Given the description of an element on the screen output the (x, y) to click on. 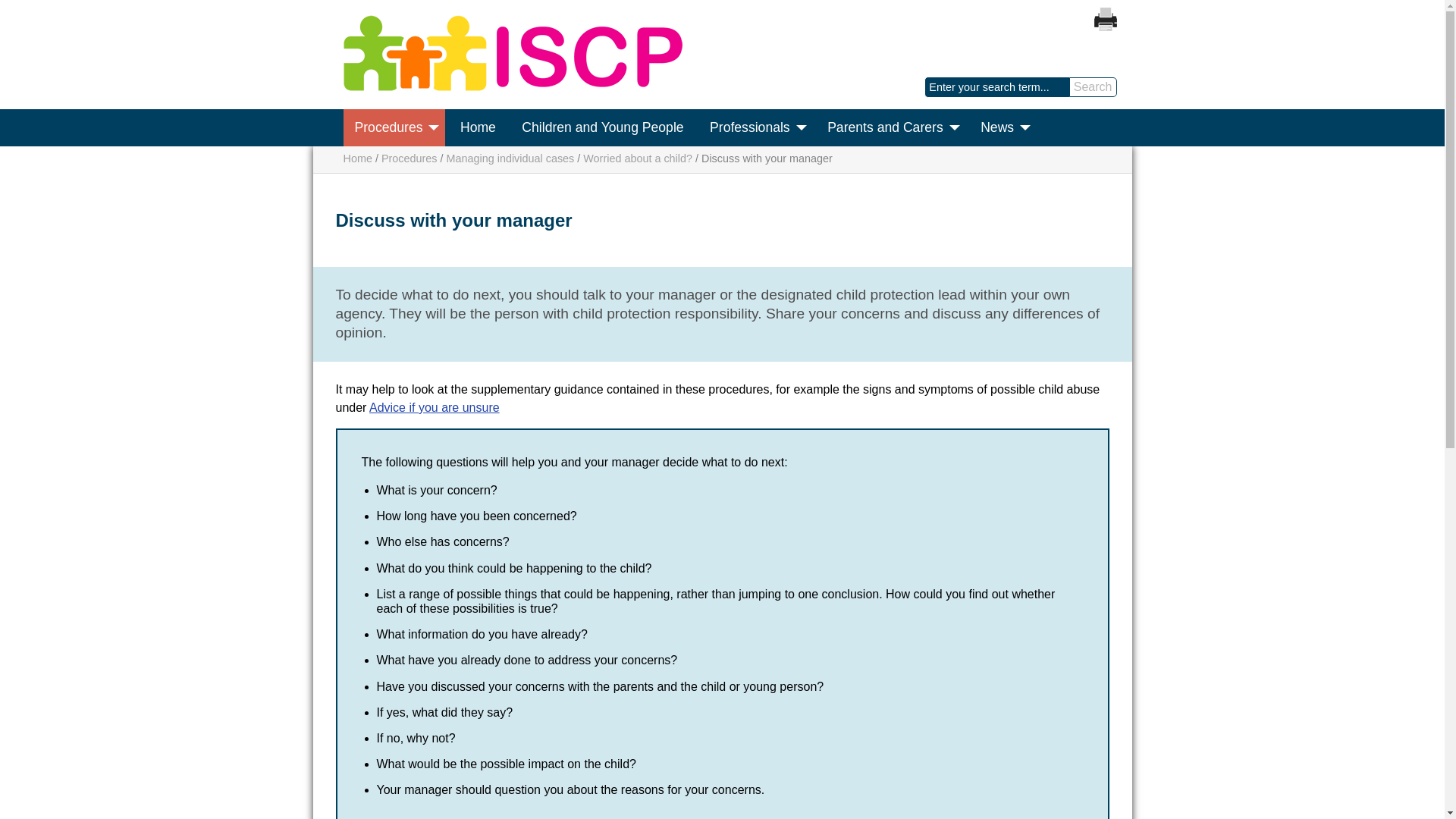
Search (1092, 86)
Enter your search term... (997, 86)
Search (1092, 86)
Home (511, 86)
Search for entered keyword (1092, 86)
